Given the description of an element on the screen output the (x, y) to click on. 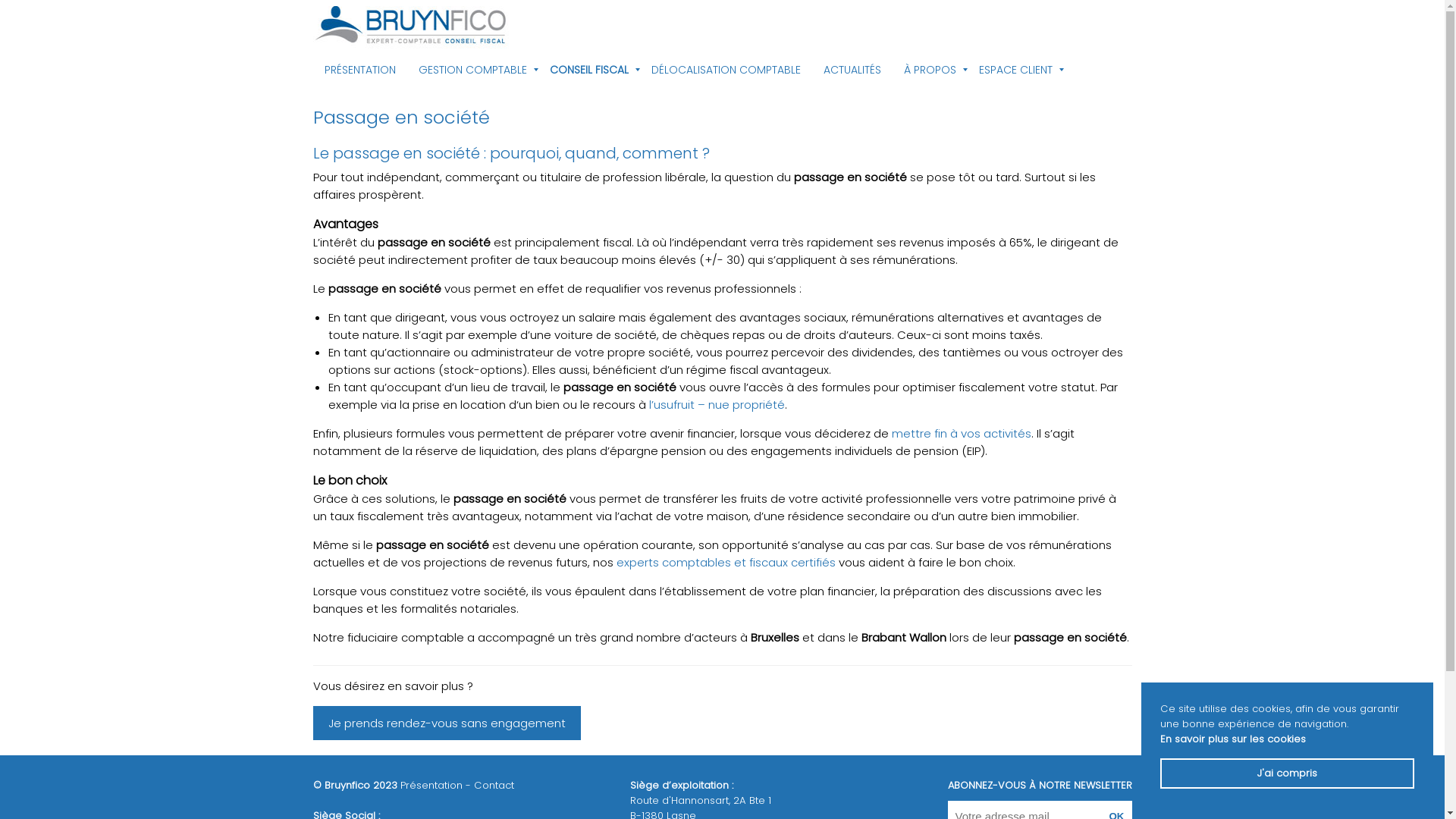
ESPACE CLIENT Element type: text (1015, 70)
Bruynfico Element type: hover (410, 25)
En savoir plus sur les cookies Element type: text (1232, 738)
Je prends rendez-vous sans engagement Element type: text (446, 723)
Contact Element type: text (493, 785)
CONSEIL FISCAL Element type: text (589, 70)
GESTION COMPTABLE Element type: text (471, 70)
